Given the description of an element on the screen output the (x, y) to click on. 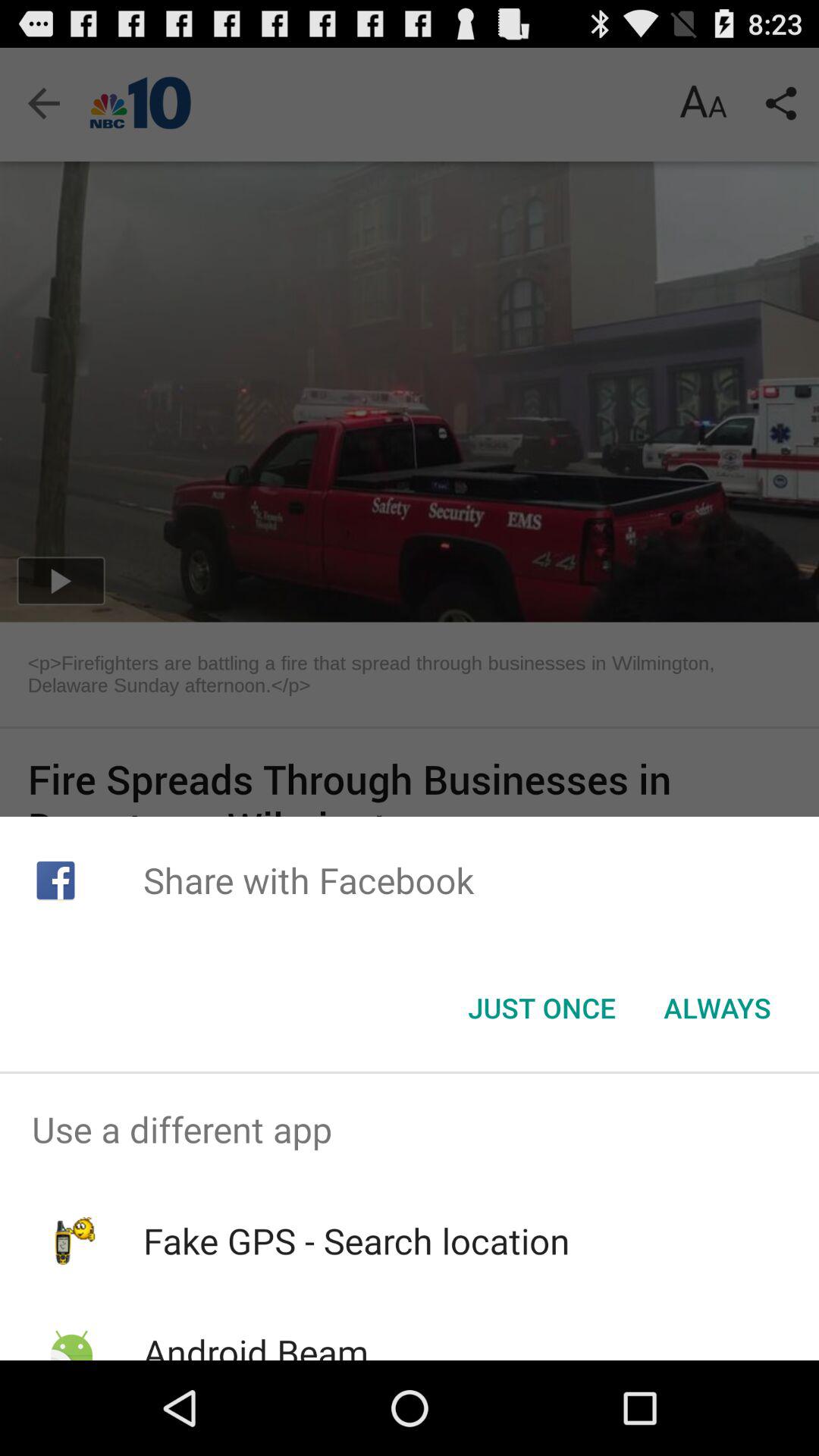
flip until android beam app (255, 1344)
